Given the description of an element on the screen output the (x, y) to click on. 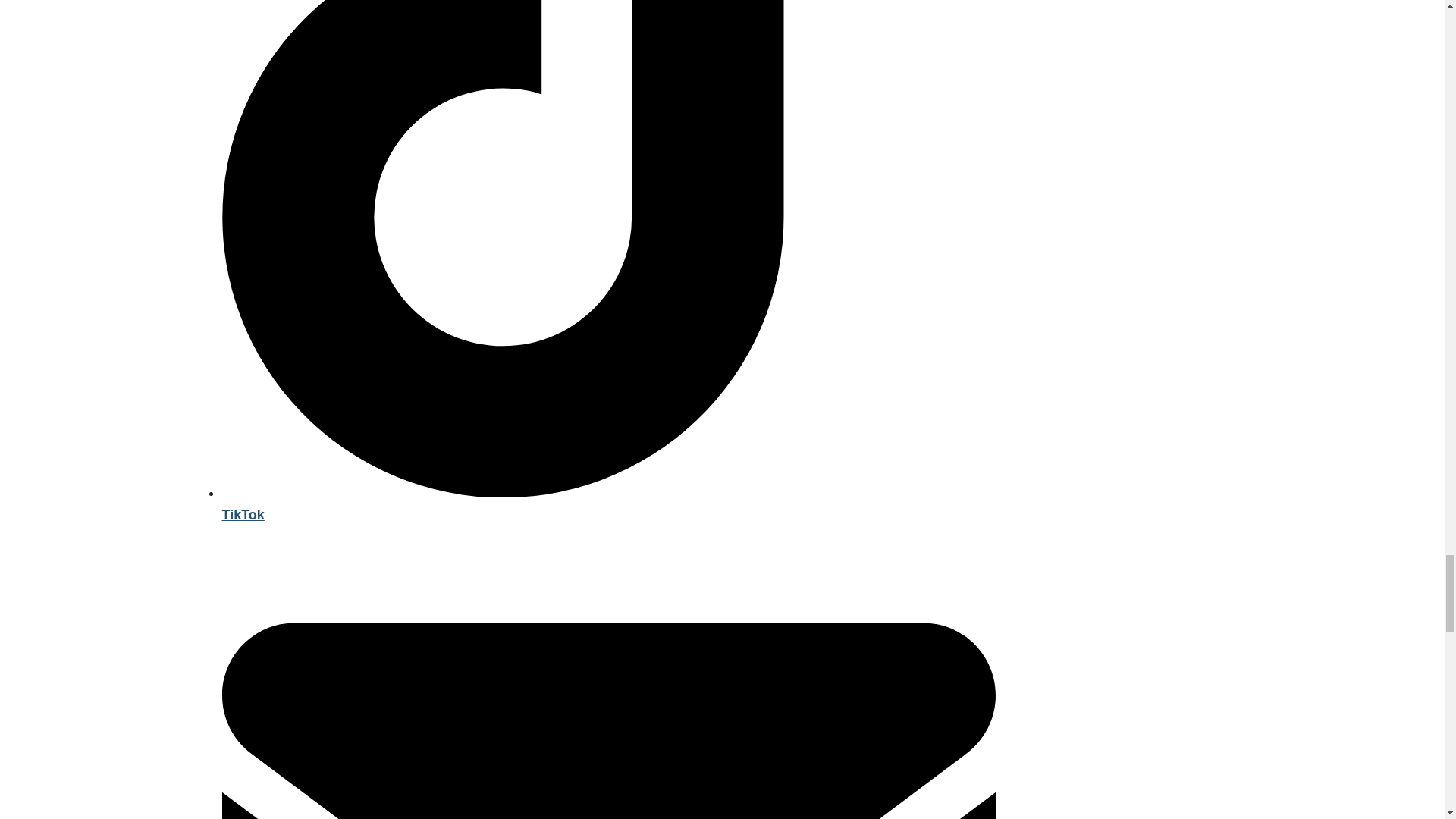
TikTok (607, 503)
